Given the description of an element on the screen output the (x, y) to click on. 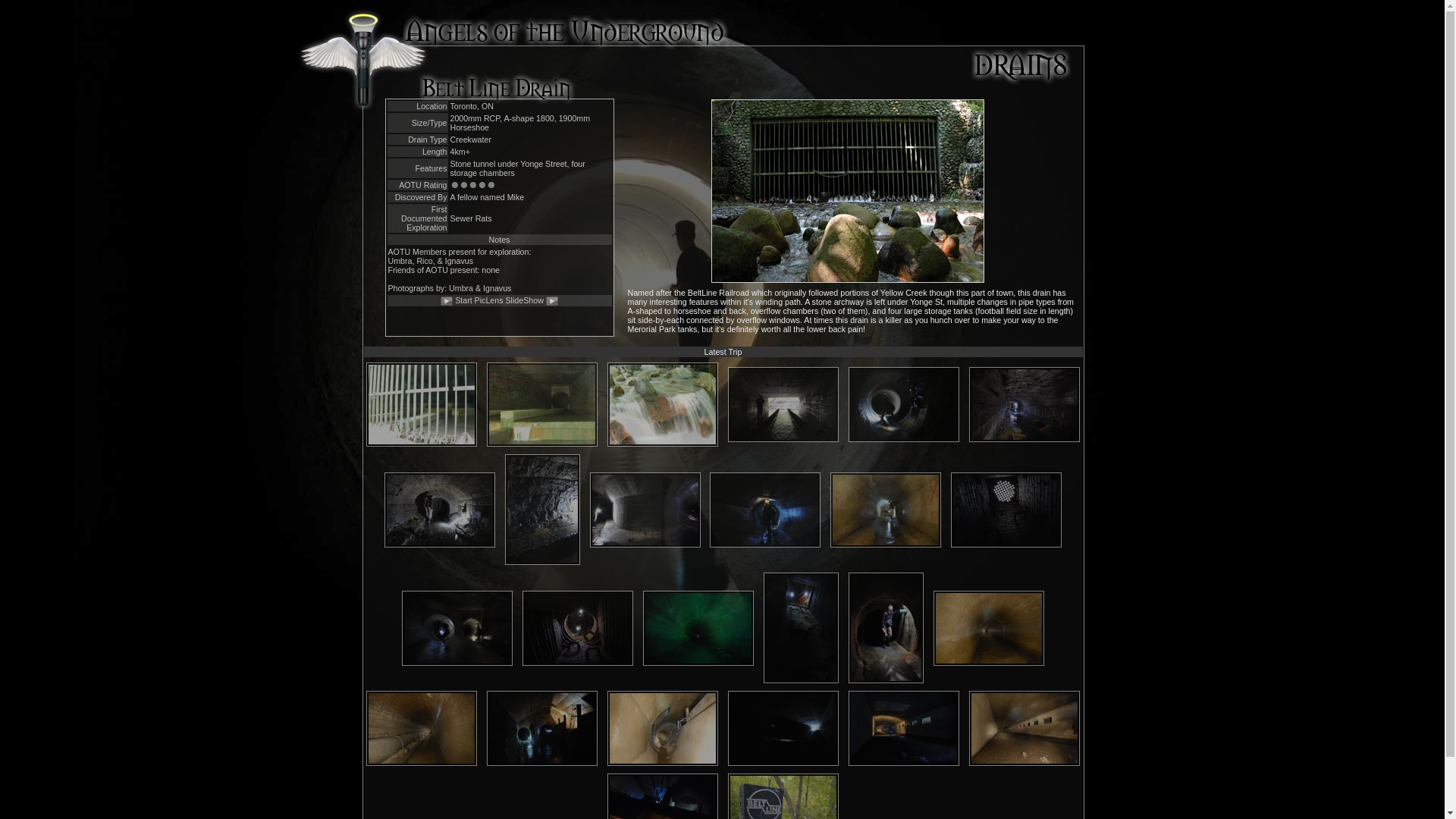
Overflow RCP leading to the storage chambers  Element type: hover (662, 726)
Start PicLens SlideShow Element type: text (499, 299)
  Element type: hover (577, 626)
Falling water (not of the Frank Lloyd Wright variety) Element type: hover (662, 402)
From horseshoe to A-shaped  Element type: hover (765, 508)
  Element type: hover (1006, 508)
Stone archway under Yonge St.  Element type: hover (1024, 402)
Umbra strikes a pose  Element type: hover (439, 508)
Memorial Park storage chamber  Element type: hover (783, 726)
Stone detail  Element type: hover (542, 508)
Overflow chamber #2 Element type: hover (542, 726)
  Element type: hover (885, 626)
Rounding the corner from Yonge St Element type: hover (645, 508)
mmmm... horseshoe Element type: hover (988, 626)
Junction room with ladders leading to two storage chambers  Element type: hover (662, 809)
Inside the outfall  Element type: hover (783, 402)
Belt Line Railroad marker  Element type: hover (783, 809)
Memorial Park storage chamber Element type: hover (1024, 726)
Overflow chamber #1  Element type: hover (457, 626)
Playing with headlamp filters  Element type: hover (698, 626)
  Element type: hover (885, 508)
Memorial Park storage chamber Element type: hover (903, 726)
CSO? not really Element type: hover (421, 726)
It calls to us...  Element type: hover (542, 402)
The grate  Element type: hover (421, 402)
  Element type: hover (800, 626)
Umbra & Ignavus contemplate life  Element type: hover (903, 402)
